Given the description of an element on the screen output the (x, y) to click on. 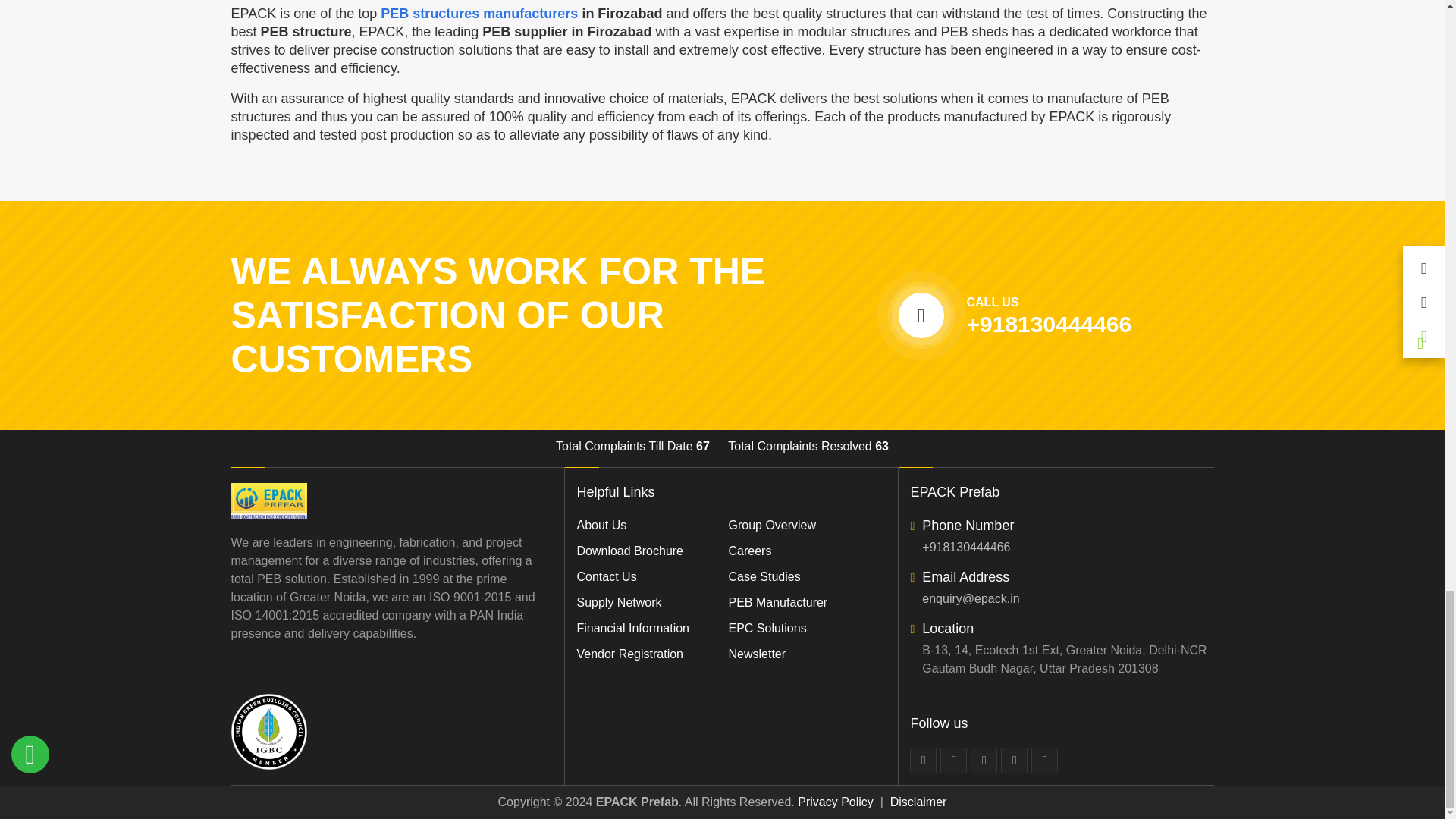
Twitter (953, 760)
Facebook (923, 760)
Youtube (1014, 760)
Linkedin (984, 760)
Instagram (1044, 760)
